Given the description of an element on the screen output the (x, y) to click on. 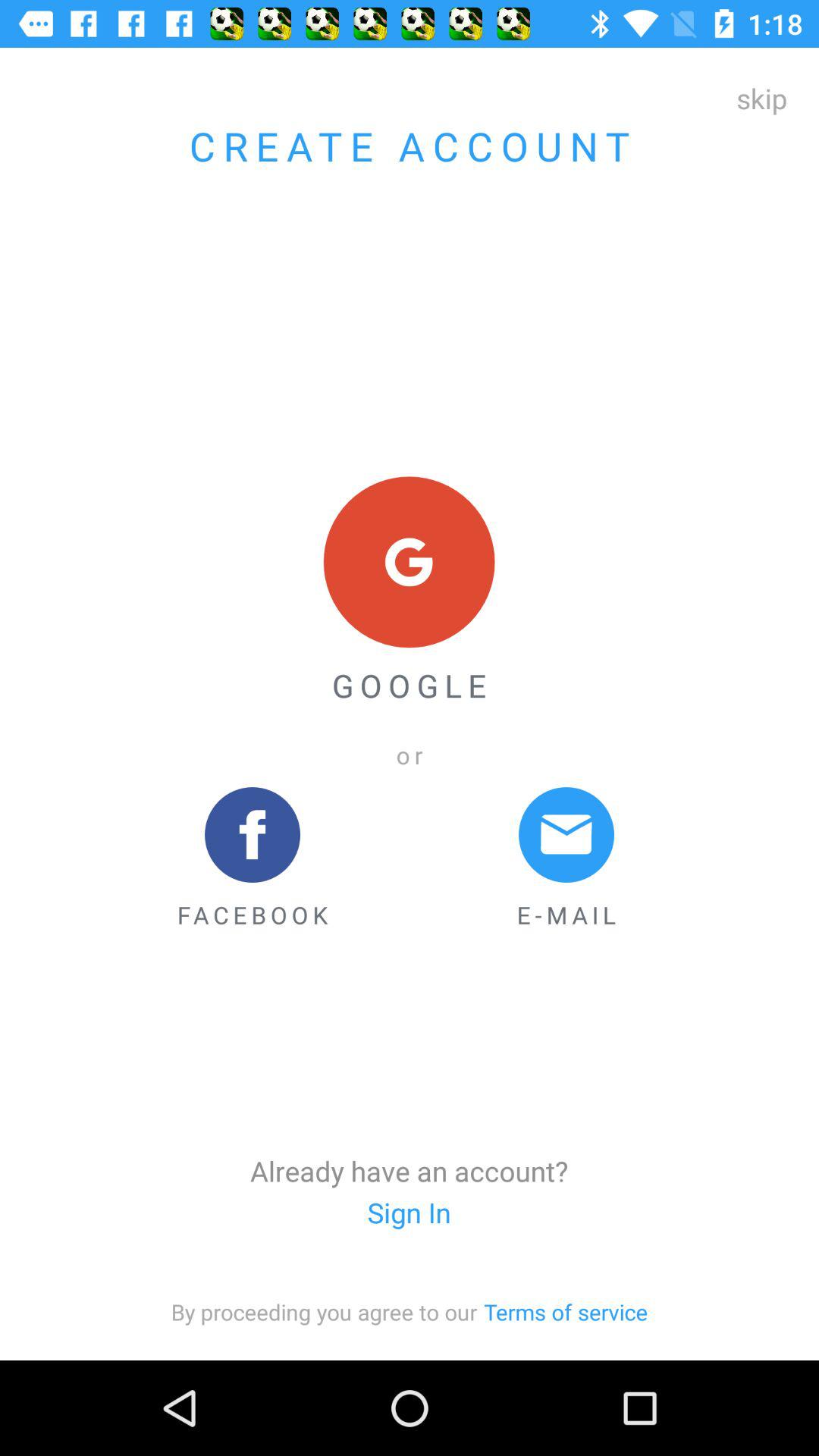
click the icon next to create account icon (761, 98)
